Given the description of an element on the screen output the (x, y) to click on. 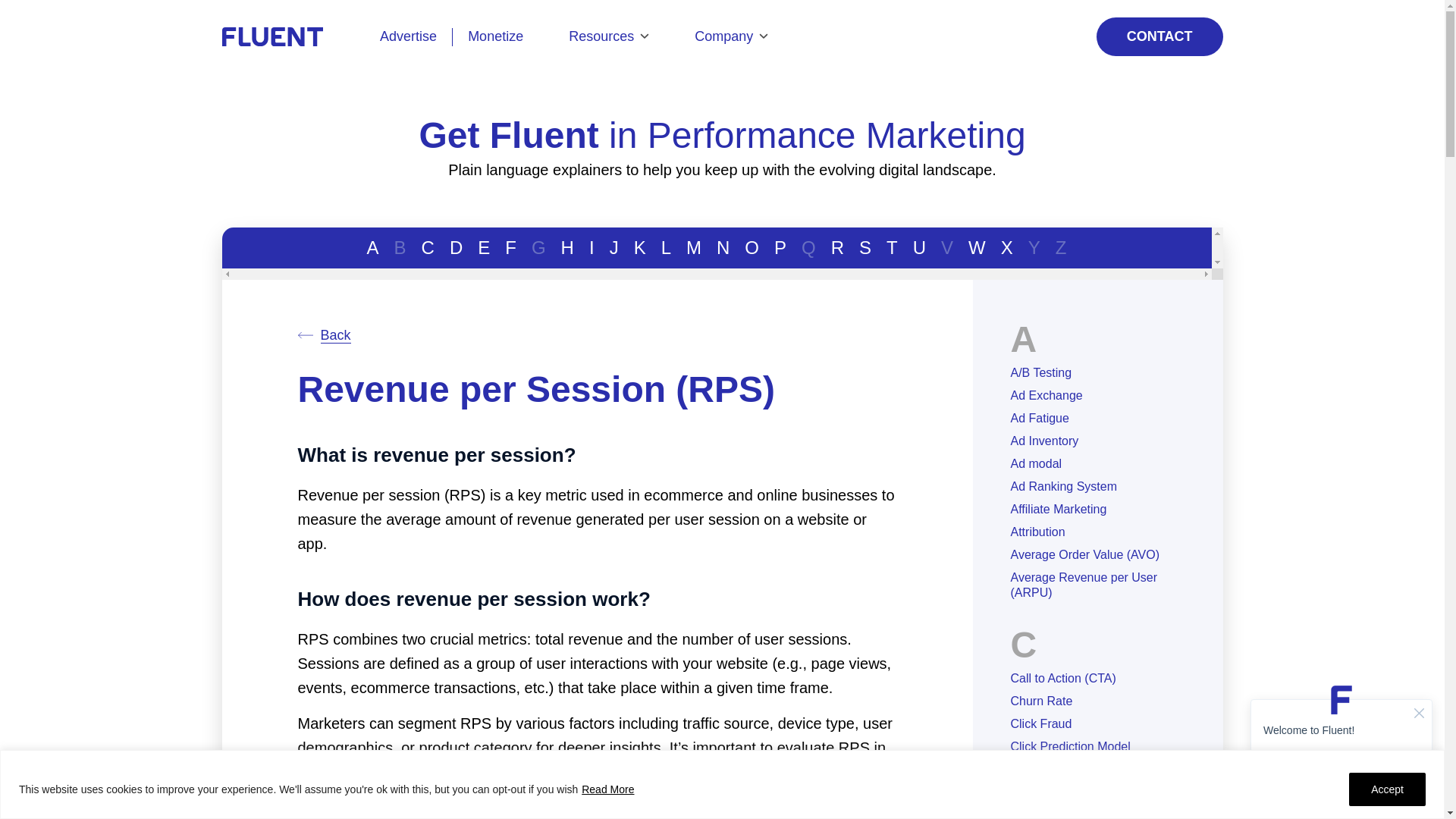
Company (731, 36)
Monetize (502, 36)
Fluent (293, 36)
Accept (1387, 788)
Advertise (408, 36)
Read More (607, 789)
CONTACT (1159, 36)
Resources (608, 36)
